Given the description of an element on the screen output the (x, y) to click on. 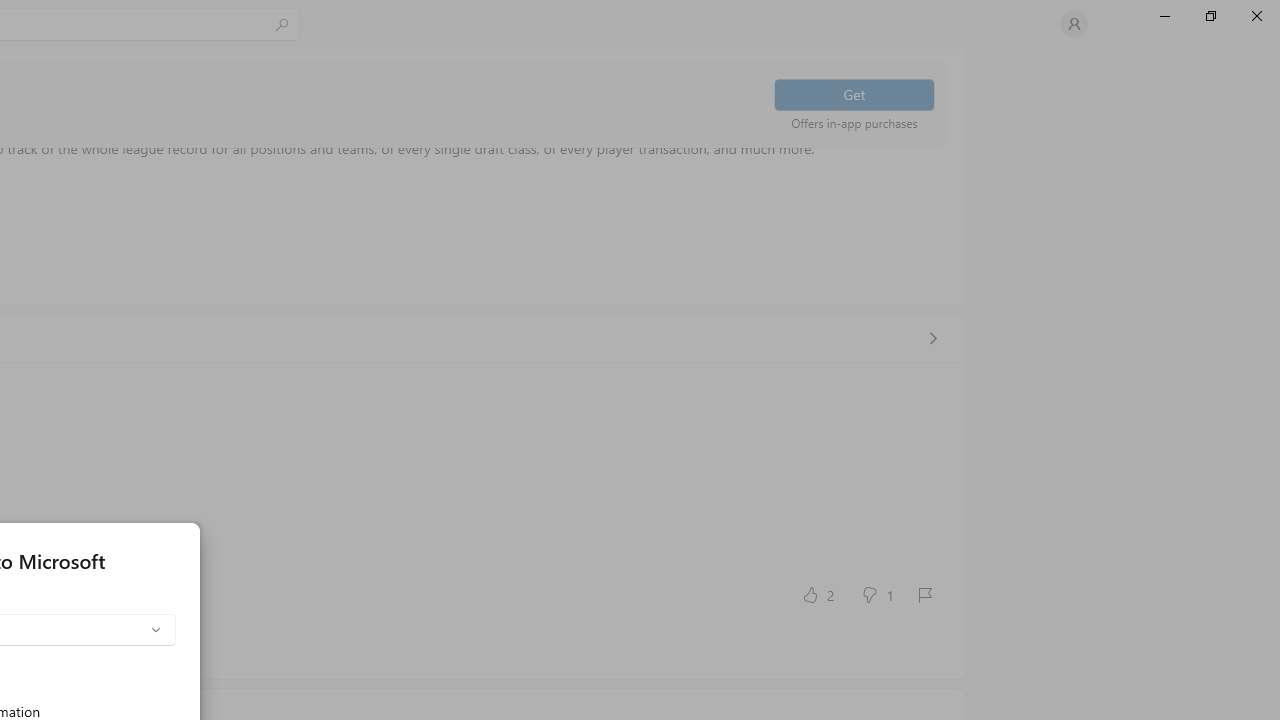
User profile (1073, 24)
Get (854, 94)
Restore Microsoft Store (1210, 15)
Minimize Microsoft Store (1164, 15)
No, this was not helpful. 1 votes. (875, 593)
Close Microsoft Store (1256, 15)
Yes, this was helpful. 2 votes. (816, 593)
Report review (924, 594)
Show all ratings and reviews (932, 337)
